Given the description of an element on the screen output the (x, y) to click on. 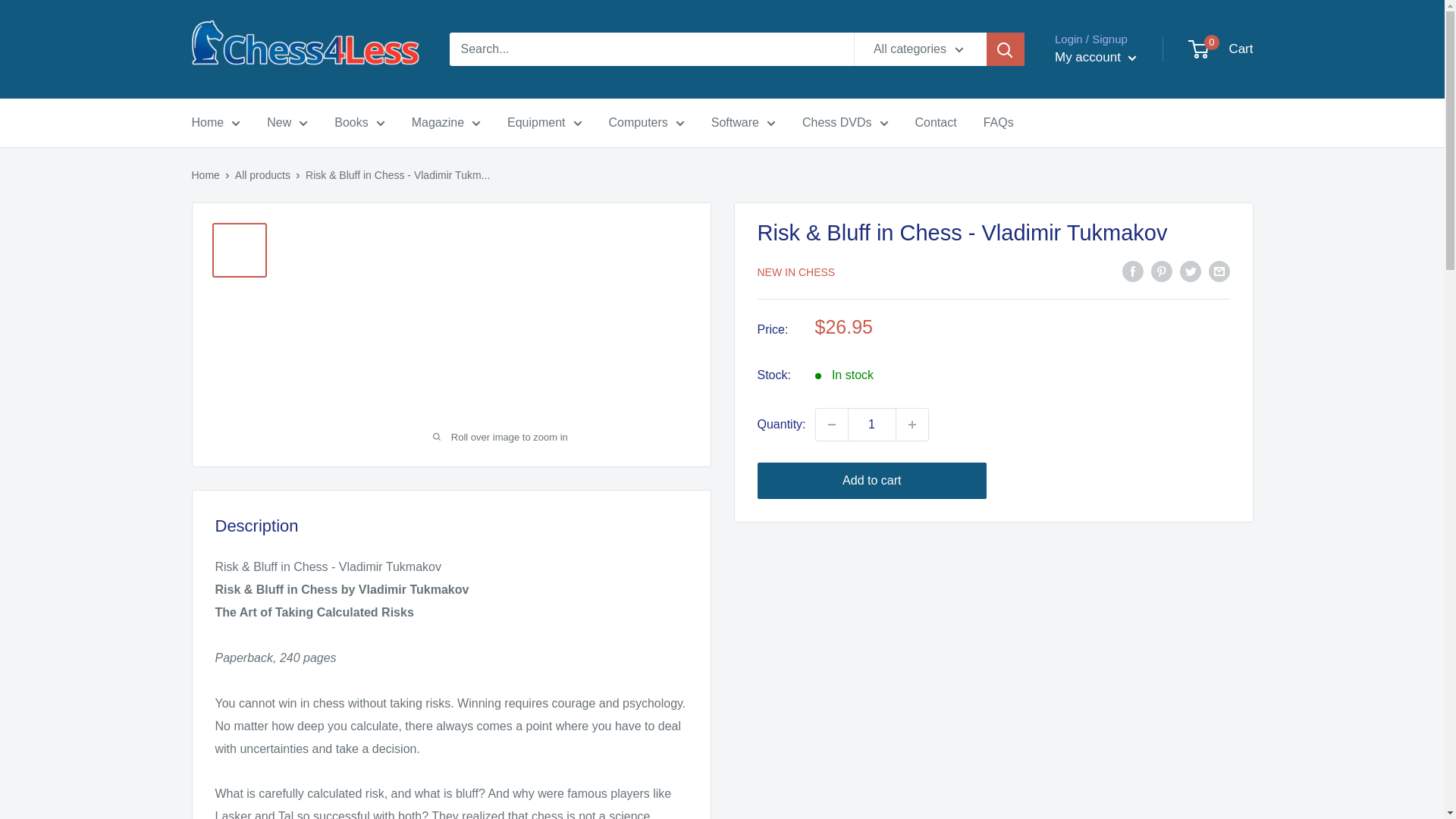
1 (871, 424)
Decrease quantity by 1 (831, 424)
Increase quantity by 1 (912, 424)
